Given the description of an element on the screen output the (x, y) to click on. 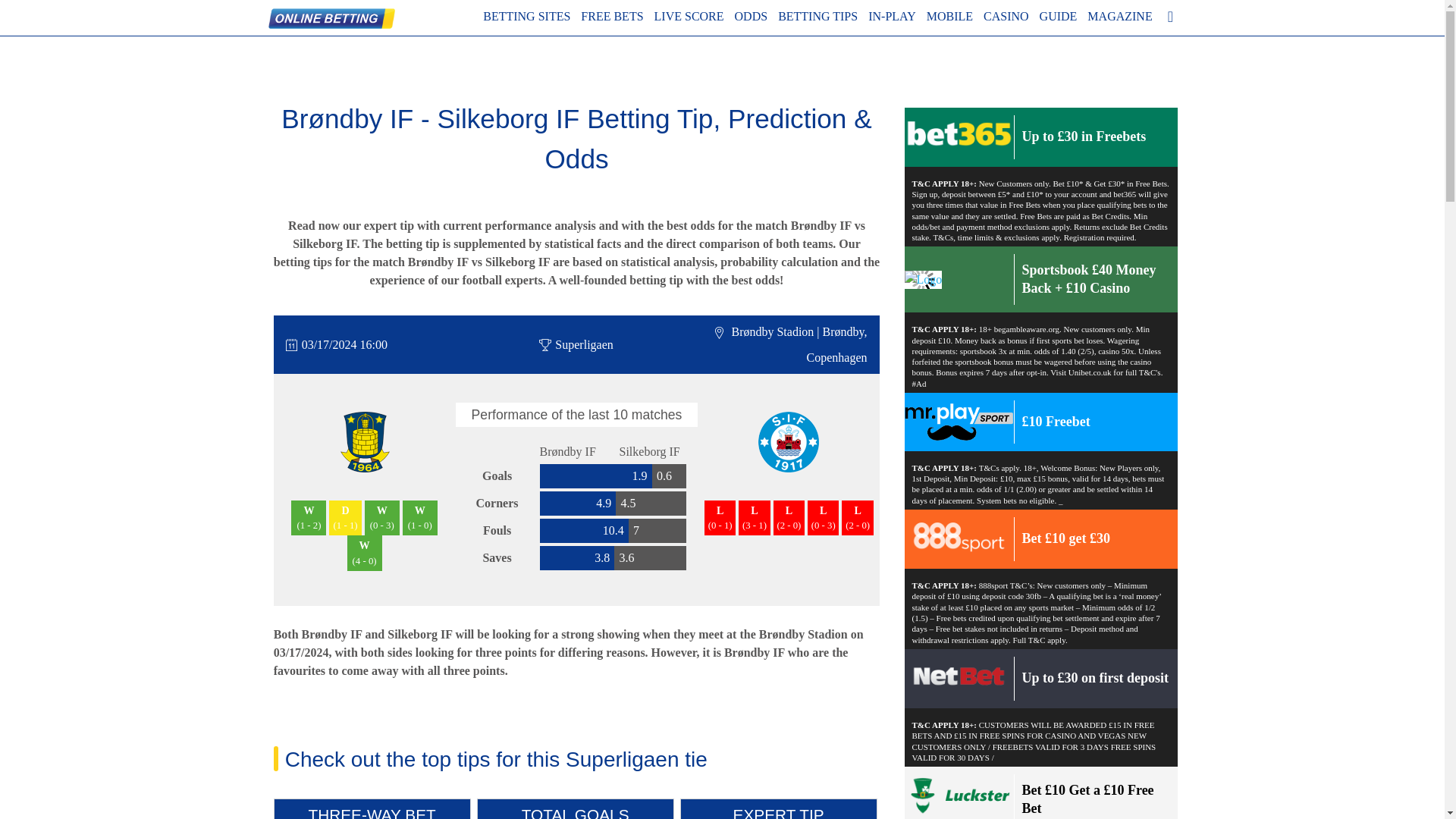
GUIDE (1058, 16)
MAGAZINE (1119, 16)
BETTING TIPS (817, 16)
FREE BETS (611, 16)
BETTING SITES (526, 16)
CASINO (1006, 16)
LIVE SCORE (688, 16)
IN-PLAY (891, 16)
ODDS (751, 16)
MOBILE (949, 16)
